Given the description of an element on the screen output the (x, y) to click on. 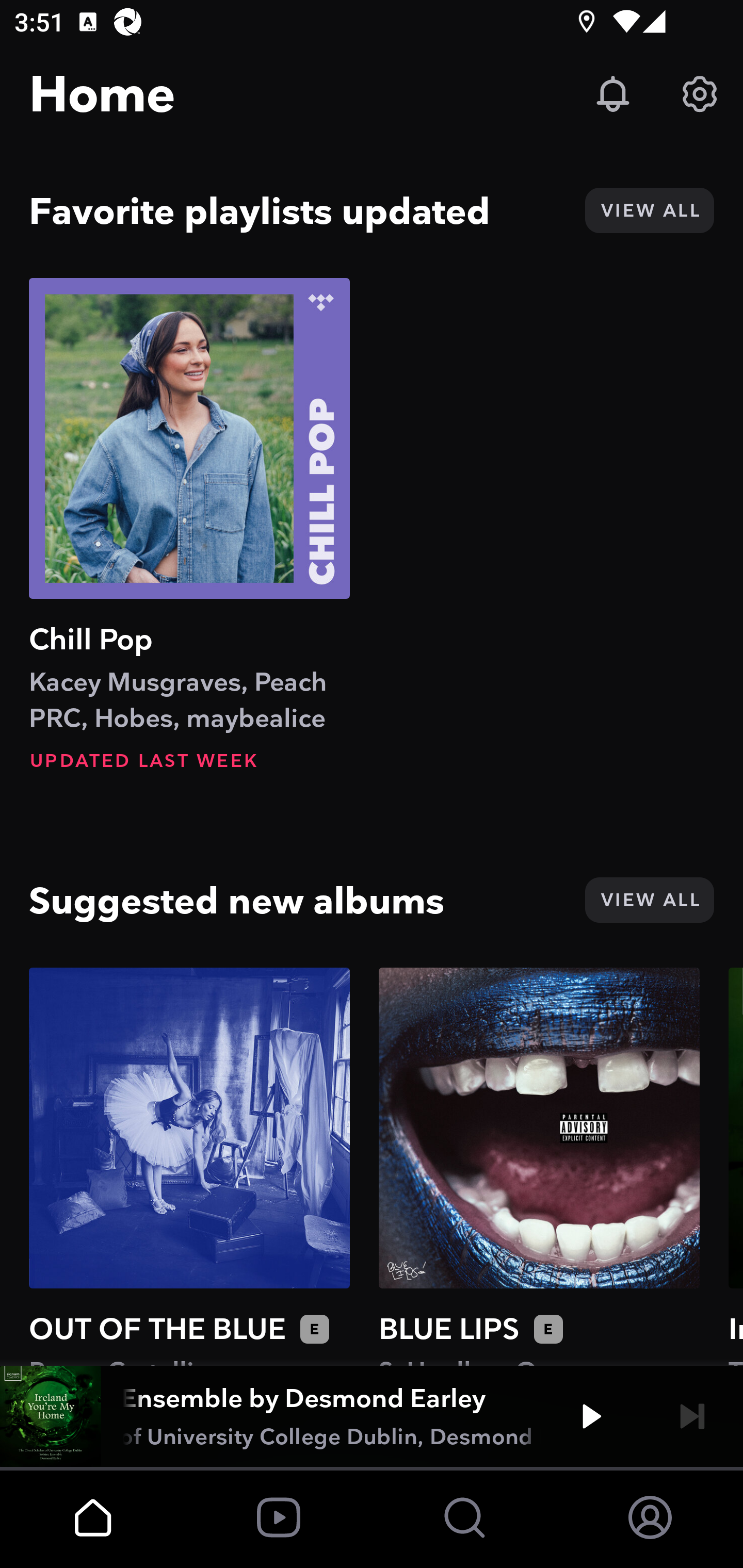
Updates (612, 93)
Settings (699, 93)
VIEW ALL (649, 210)
VIEW ALL (649, 899)
OUT OF THE BLUE Brynn Cartelli (188, 1166)
BLUE LIPS ScHoolboy Q (538, 1166)
Play (590, 1416)
